Given the description of an element on the screen output the (x, y) to click on. 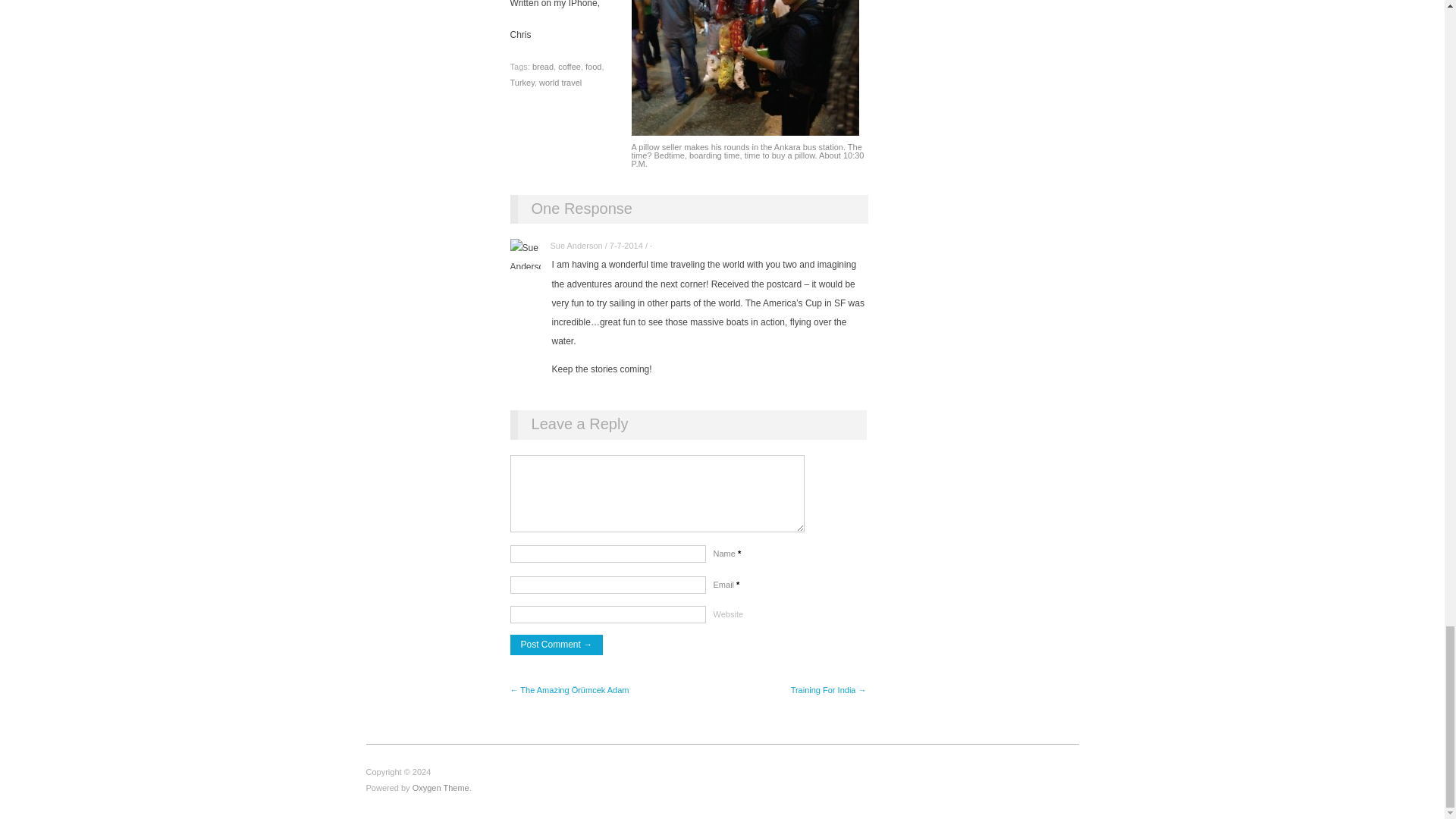
Oxygen Theme (440, 787)
coffee (568, 66)
Turkey (522, 81)
world travel (559, 81)
bread (542, 66)
food (593, 66)
